Given the description of an element on the screen output the (x, y) to click on. 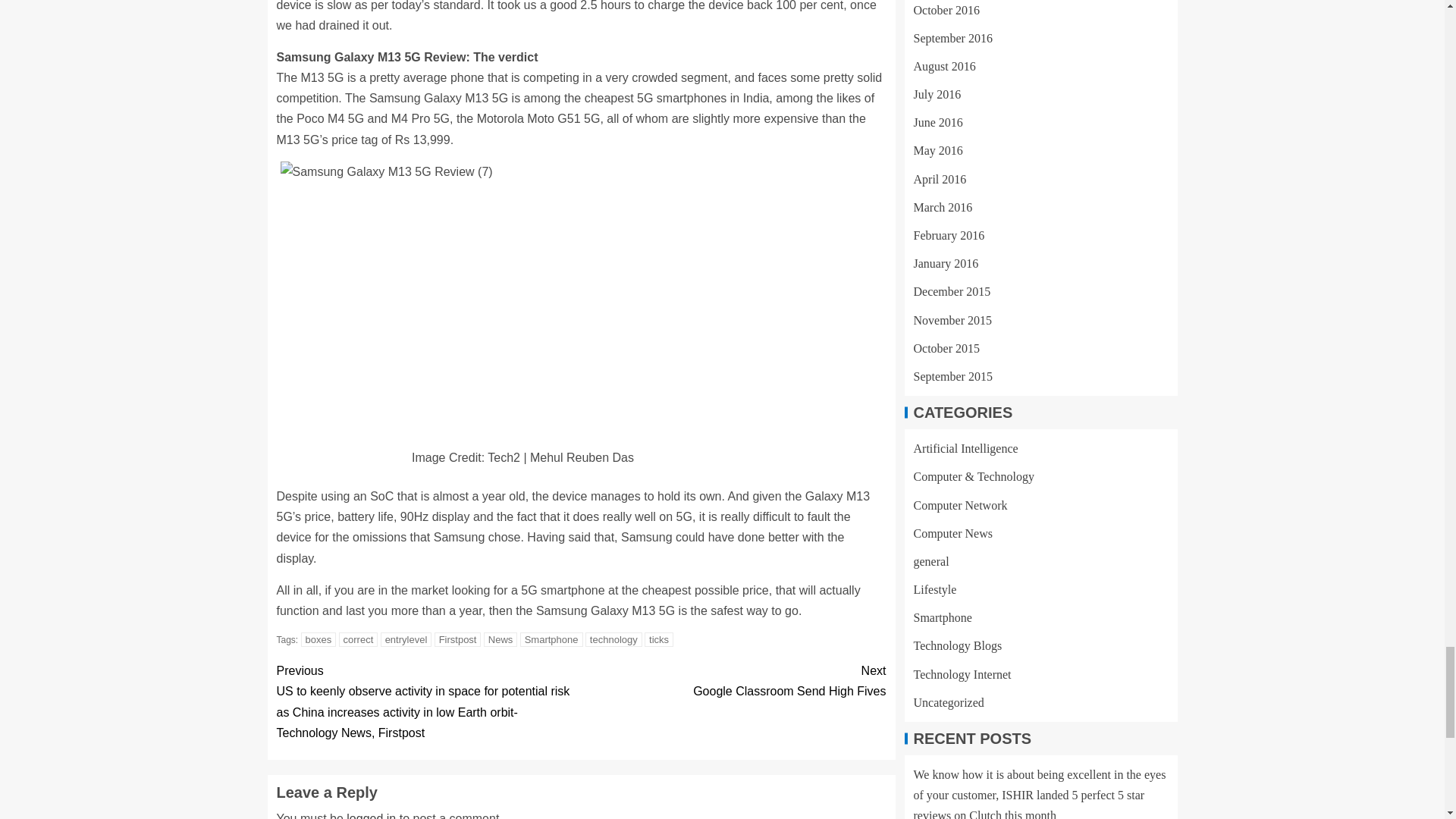
Firstpost (457, 639)
Smartphone (551, 639)
ticks (732, 680)
boxes (658, 639)
entrylevel (318, 639)
News (406, 639)
correct (500, 639)
technology (358, 639)
